Given the description of an element on the screen output the (x, y) to click on. 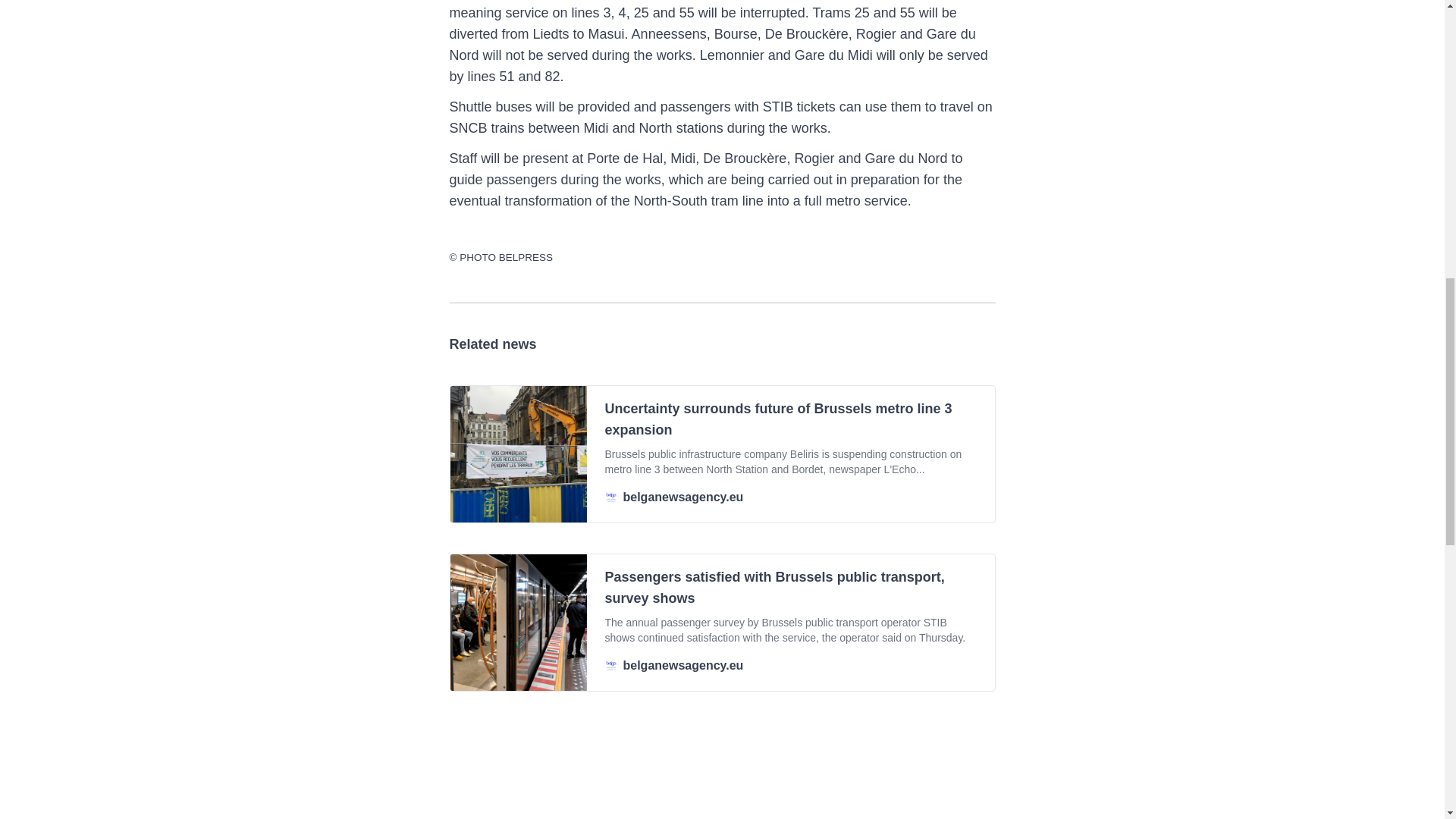
belganewsagency.eu (790, 497)
belganewsagency.eu (790, 665)
